Given the description of an element on the screen output the (x, y) to click on. 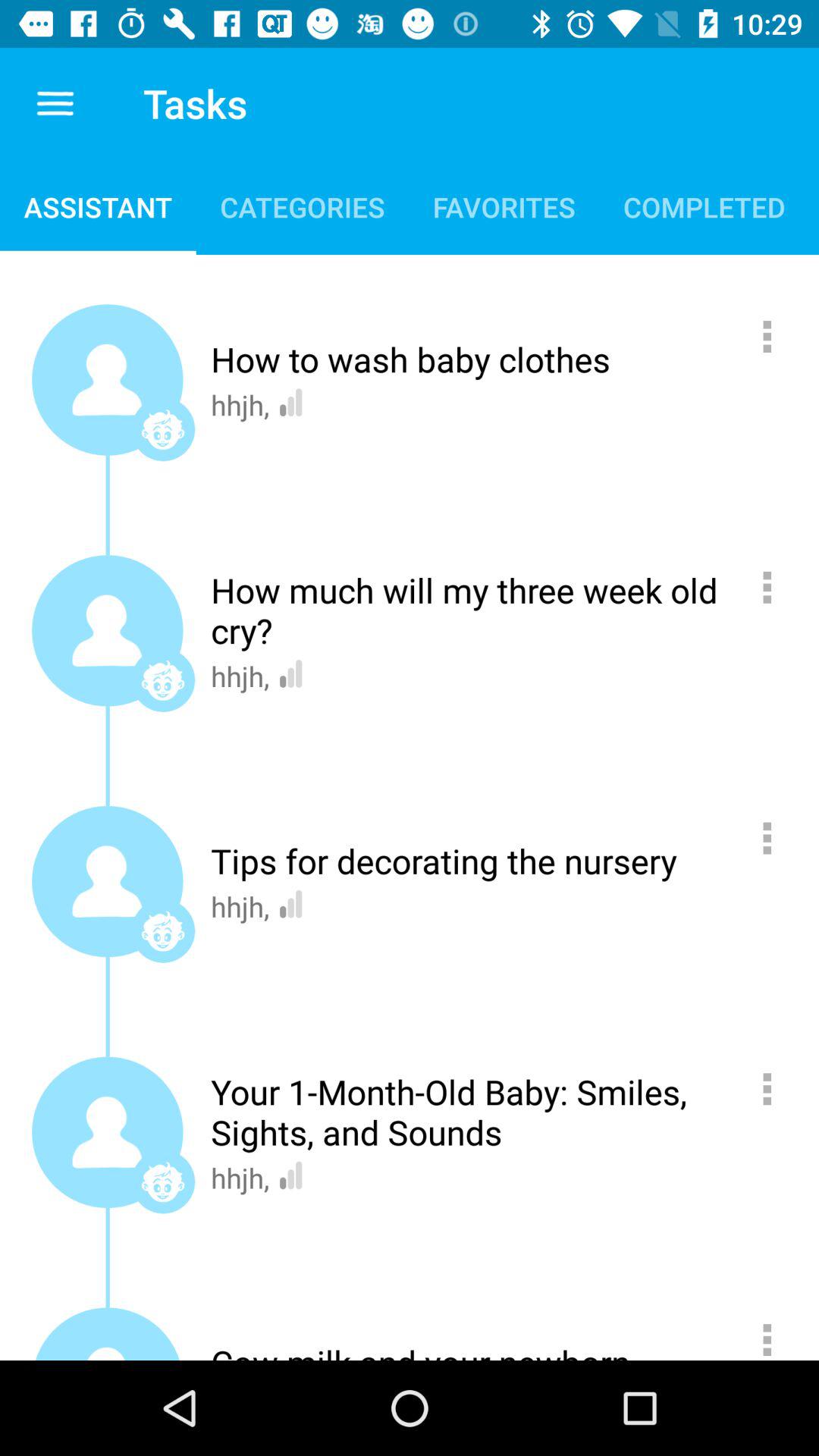
more details (775, 1089)
